Given the description of an element on the screen output the (x, y) to click on. 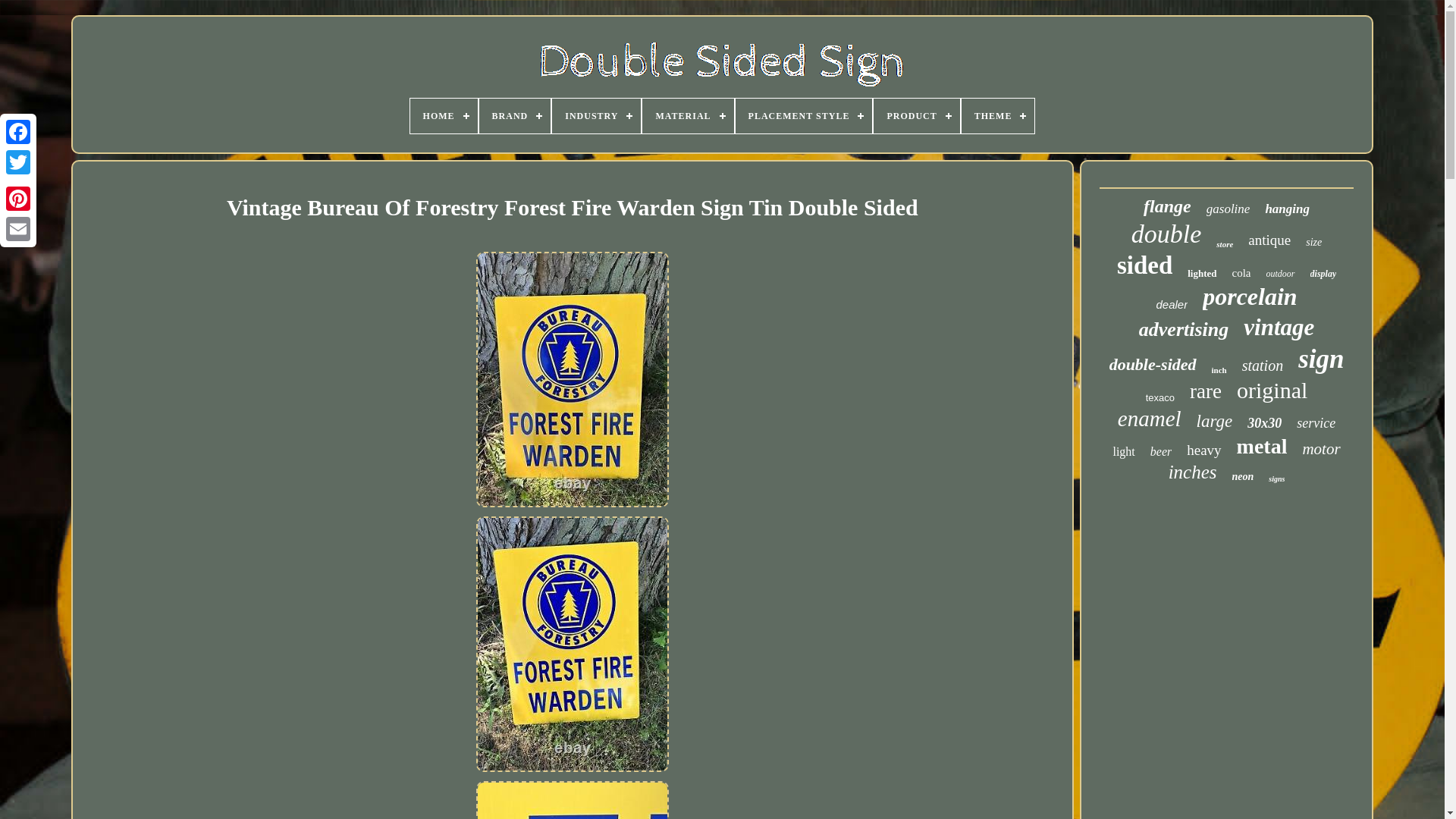
Email (17, 228)
Pinterest (17, 198)
INDUSTRY (595, 115)
HOME (443, 115)
BRAND (515, 115)
Facebook (17, 132)
